Given the description of an element on the screen output the (x, y) to click on. 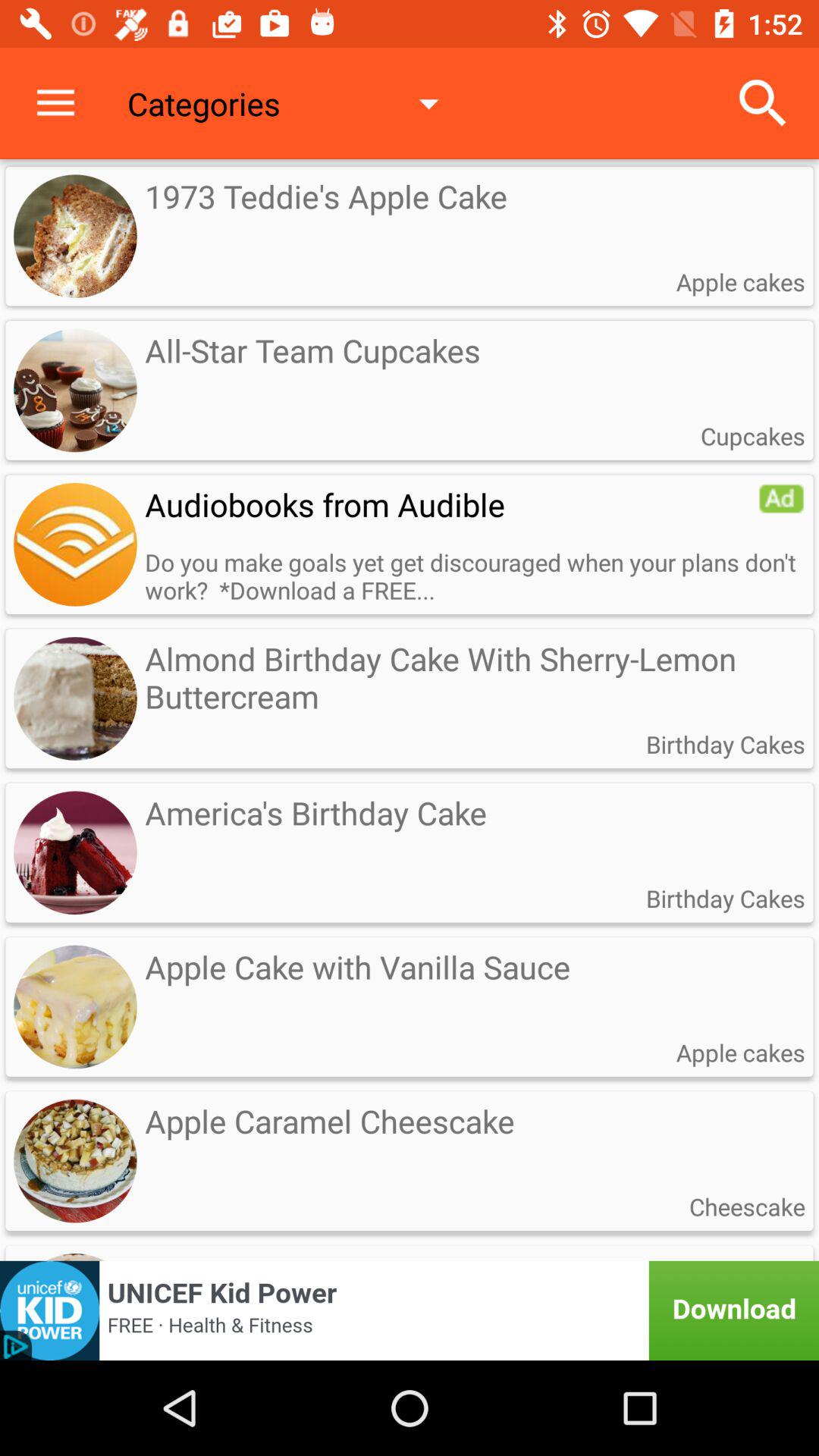
launch the item to the left of categories (55, 103)
